Given the description of an element on the screen output the (x, y) to click on. 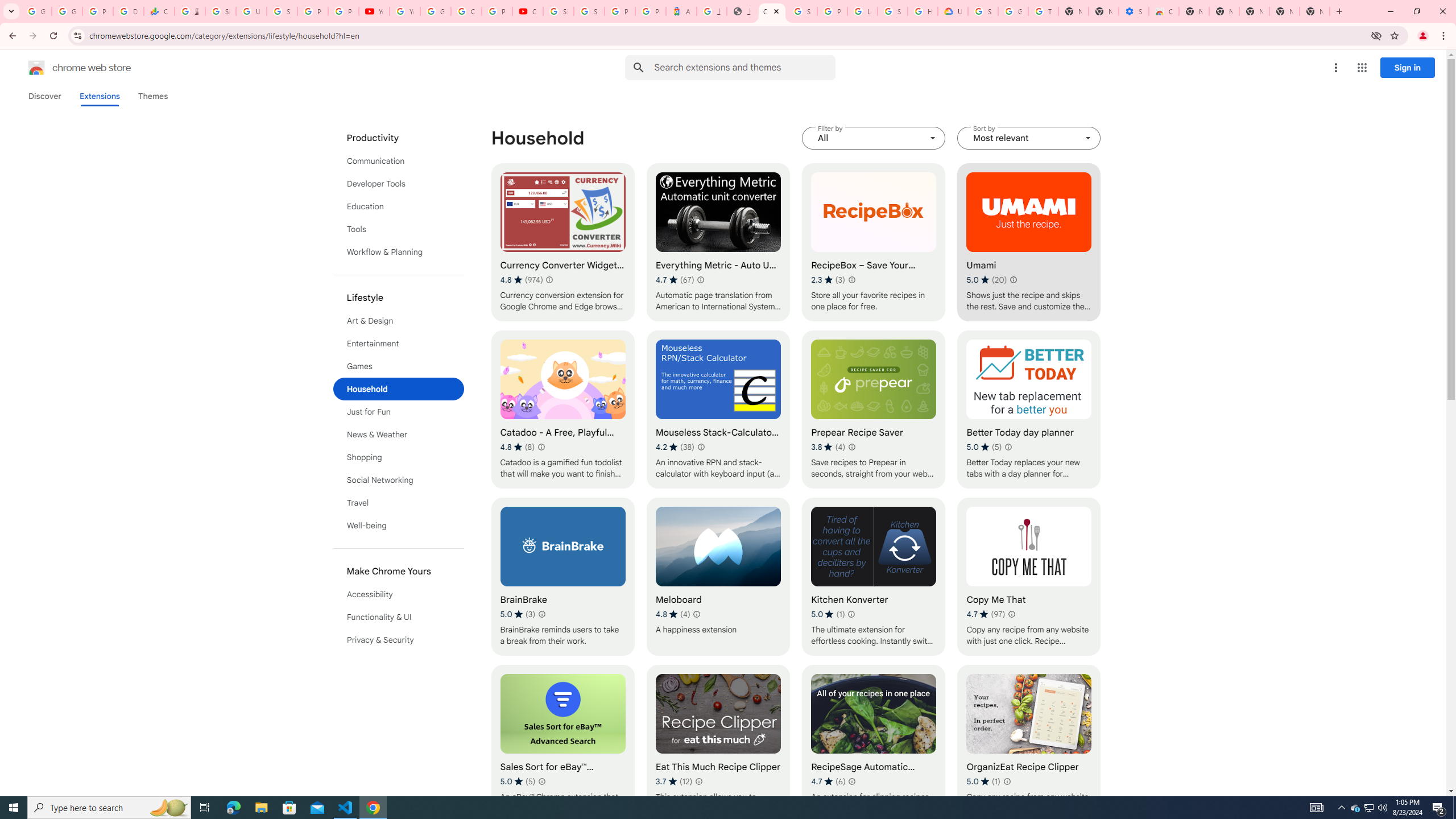
Sign in - Google Accounts (801, 11)
Tools (398, 228)
Average rating 4.7 out of 5 stars. 6 ratings. (827, 781)
Meloboard (718, 576)
Learn more about results and reviews "BrainBrake" (542, 613)
Kitchen Konverter (874, 576)
Average rating 2.3 out of 5 stars. 3 ratings. (827, 279)
Learn more about results and reviews "Prepear Recipe Saver" (850, 446)
